Given the description of an element on the screen output the (x, y) to click on. 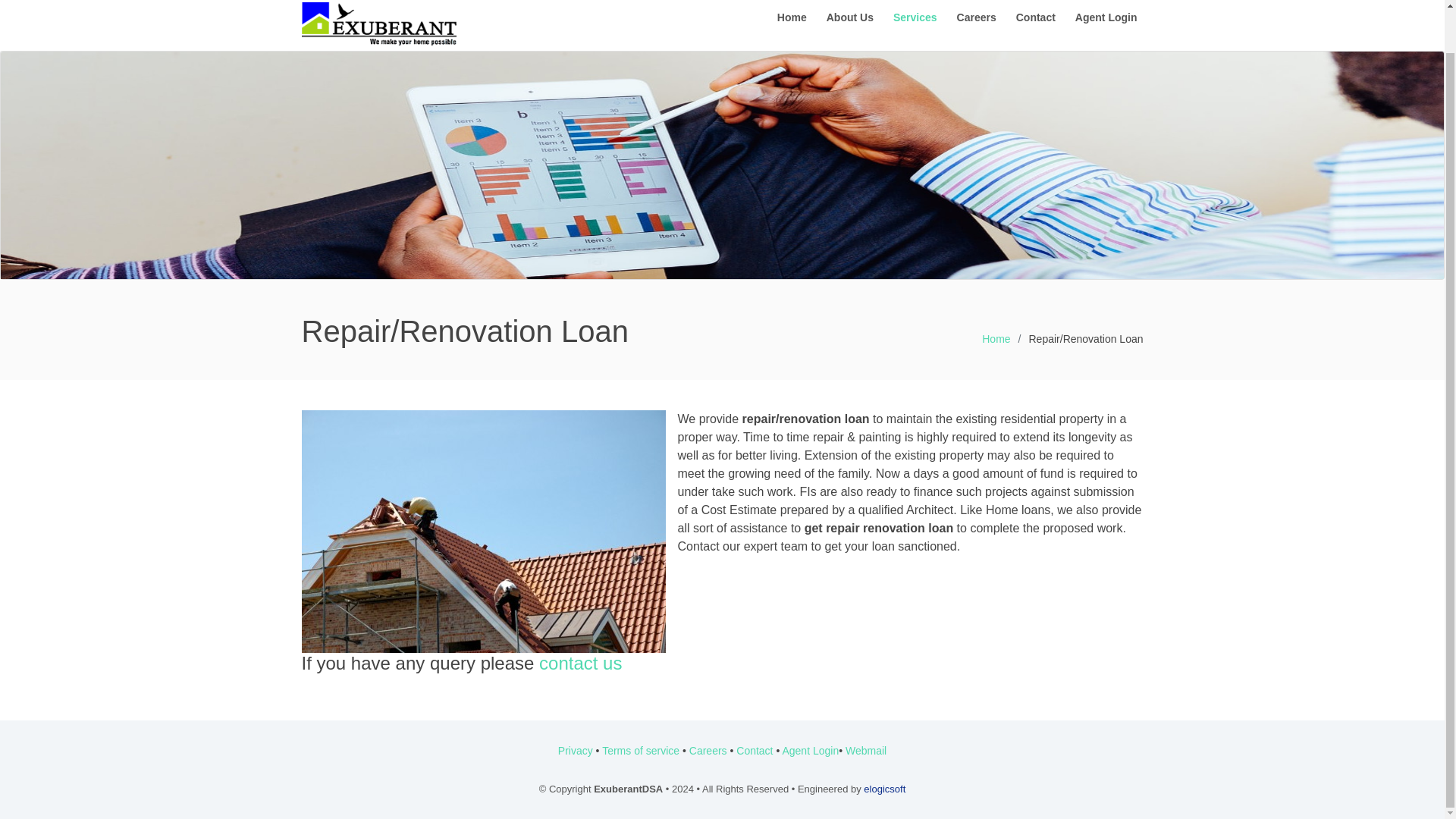
elogicsoft (884, 788)
Agent Login (809, 750)
Careers (976, 17)
Contact (754, 750)
Home (791, 17)
Contact (1035, 17)
Home (995, 337)
Terms of service (640, 750)
Webmail (865, 750)
Privacy (574, 750)
Agent Login (1105, 17)
Careers (707, 750)
contact us (579, 662)
About Us (850, 17)
Services (914, 17)
